Given the description of an element on the screen output the (x, y) to click on. 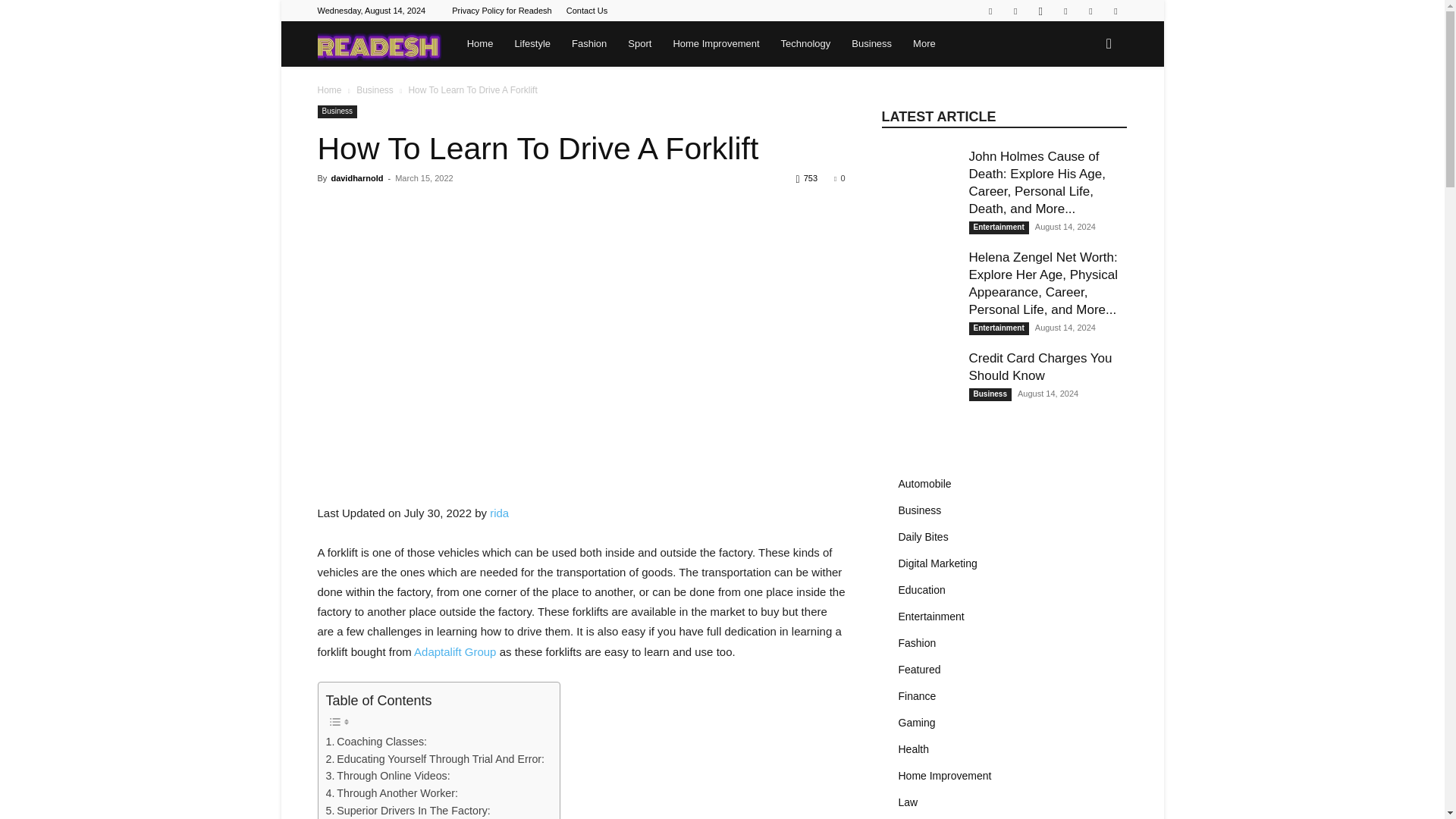
Instagram (1040, 10)
Behance (989, 10)
Readish Logo (379, 44)
Contact Us (586, 10)
Privacy Policy for Readesh (501, 10)
Vimeo (1090, 10)
Facebook (1015, 10)
VKontakte (1114, 10)
Twitter (1065, 10)
